Given the description of an element on the screen output the (x, y) to click on. 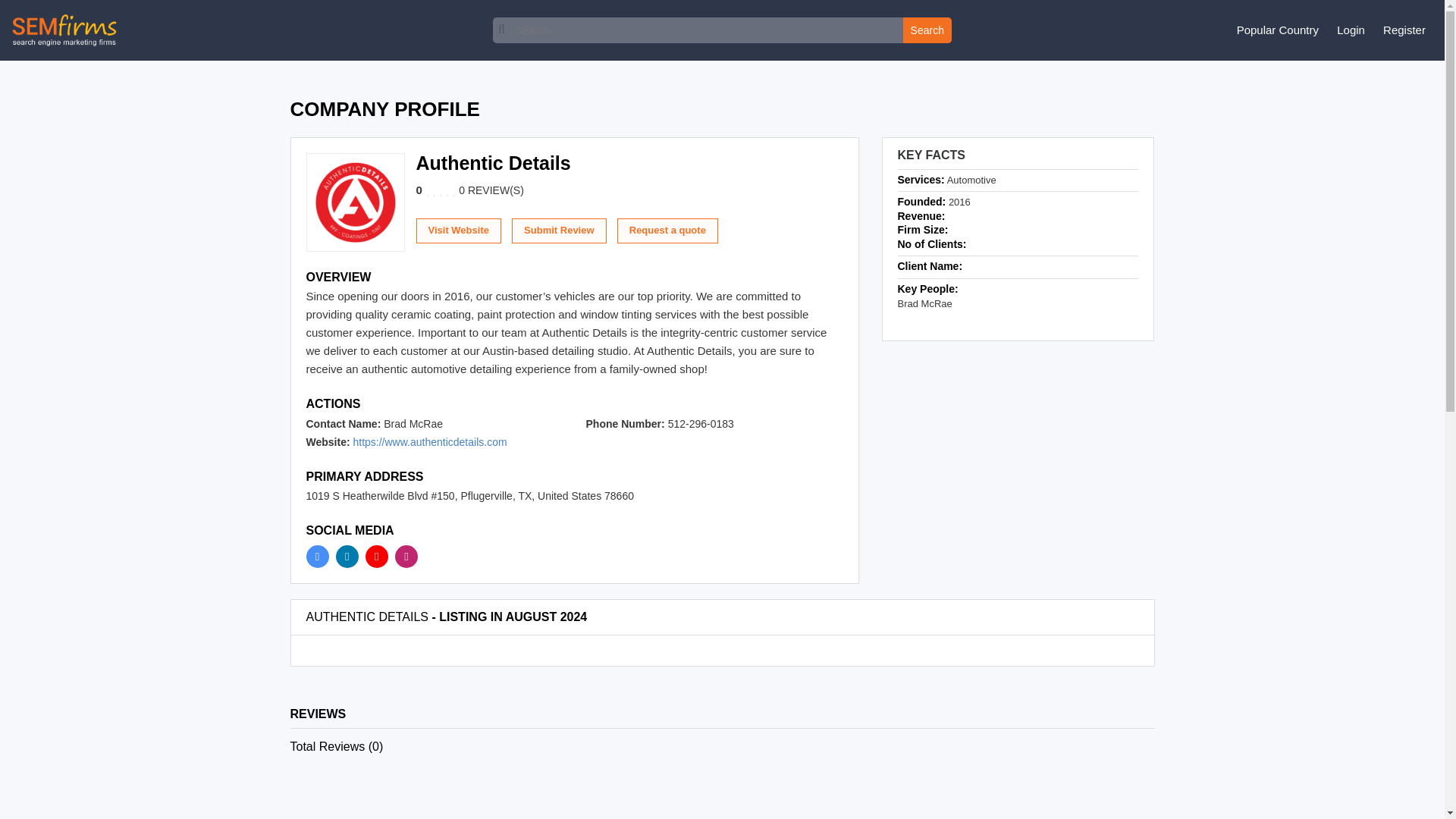
Search (927, 30)
Login (1351, 29)
Popular Country (1277, 29)
Request a quote (667, 230)
Submit Review (558, 230)
Visit Website (457, 230)
Register (1403, 29)
